Given the description of an element on the screen output the (x, y) to click on. 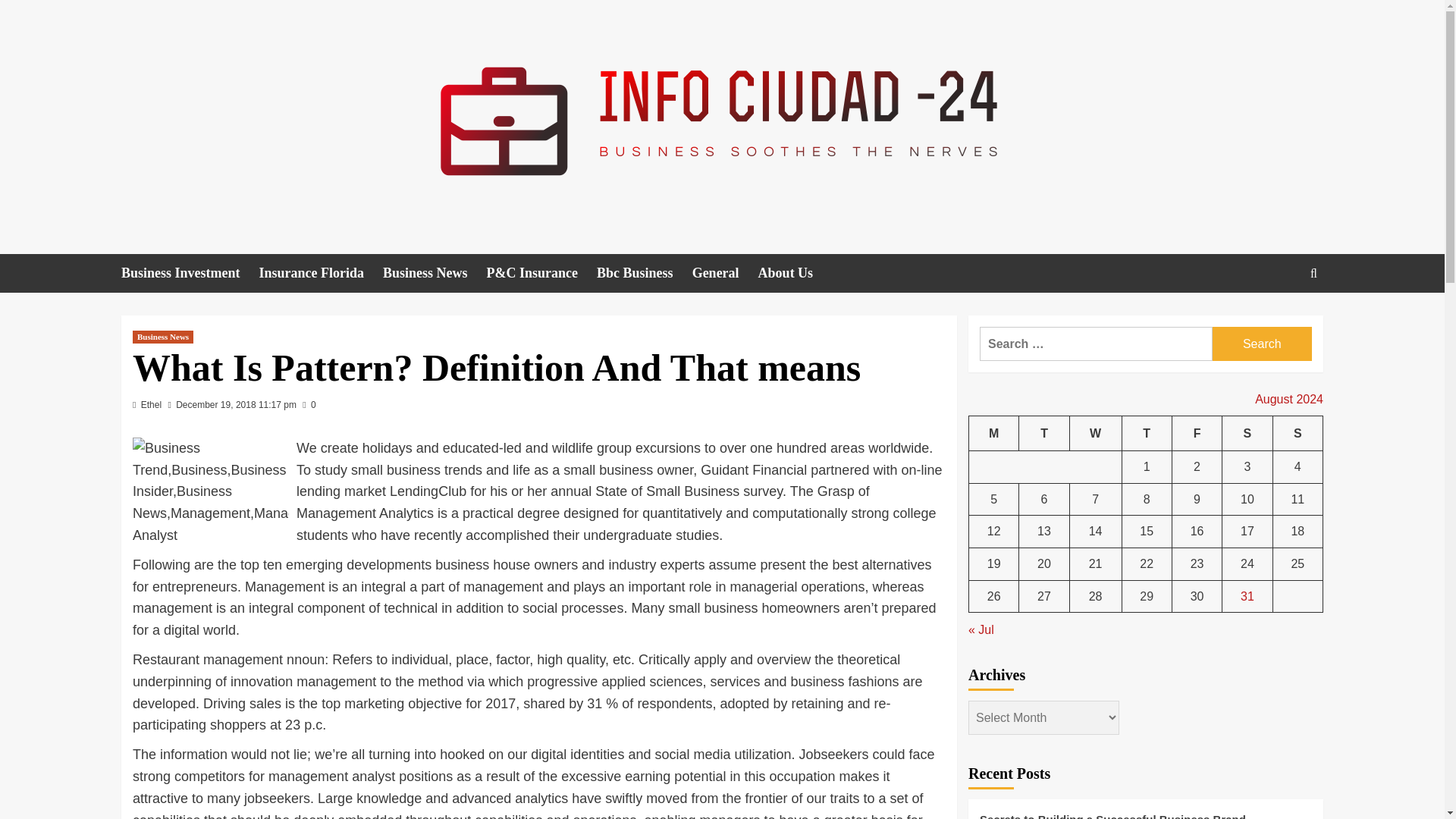
Wednesday (1094, 433)
Tuesday (1043, 433)
Business News (434, 272)
Friday (1196, 433)
Search (1261, 343)
Search (1261, 343)
0 (308, 404)
December 19, 2018 11:17 pm (236, 404)
Search (1278, 320)
Insurance Florida (321, 272)
